Given the description of an element on the screen output the (x, y) to click on. 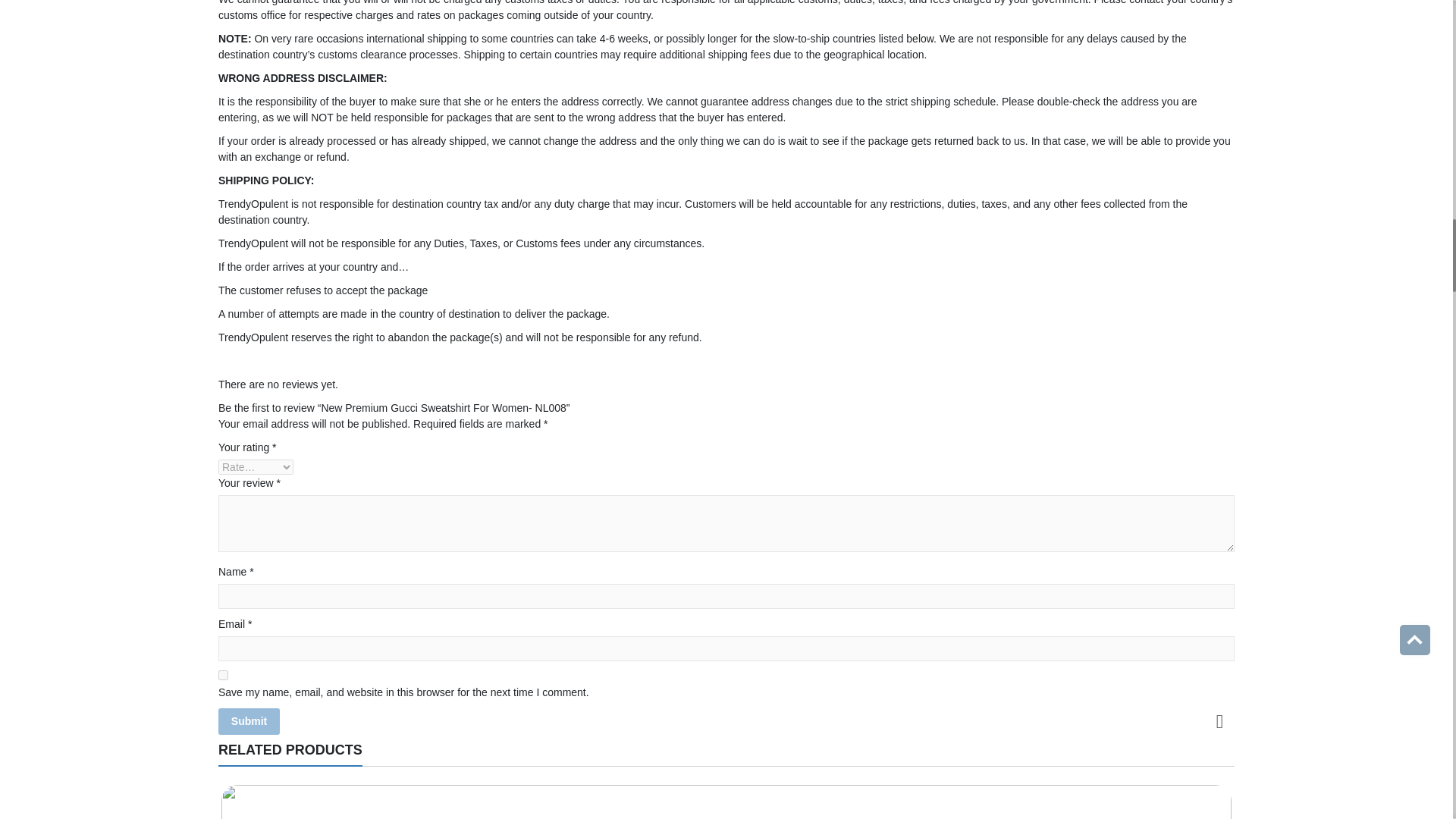
yes (223, 675)
Submit (248, 721)
